Given the description of an element on the screen output the (x, y) to click on. 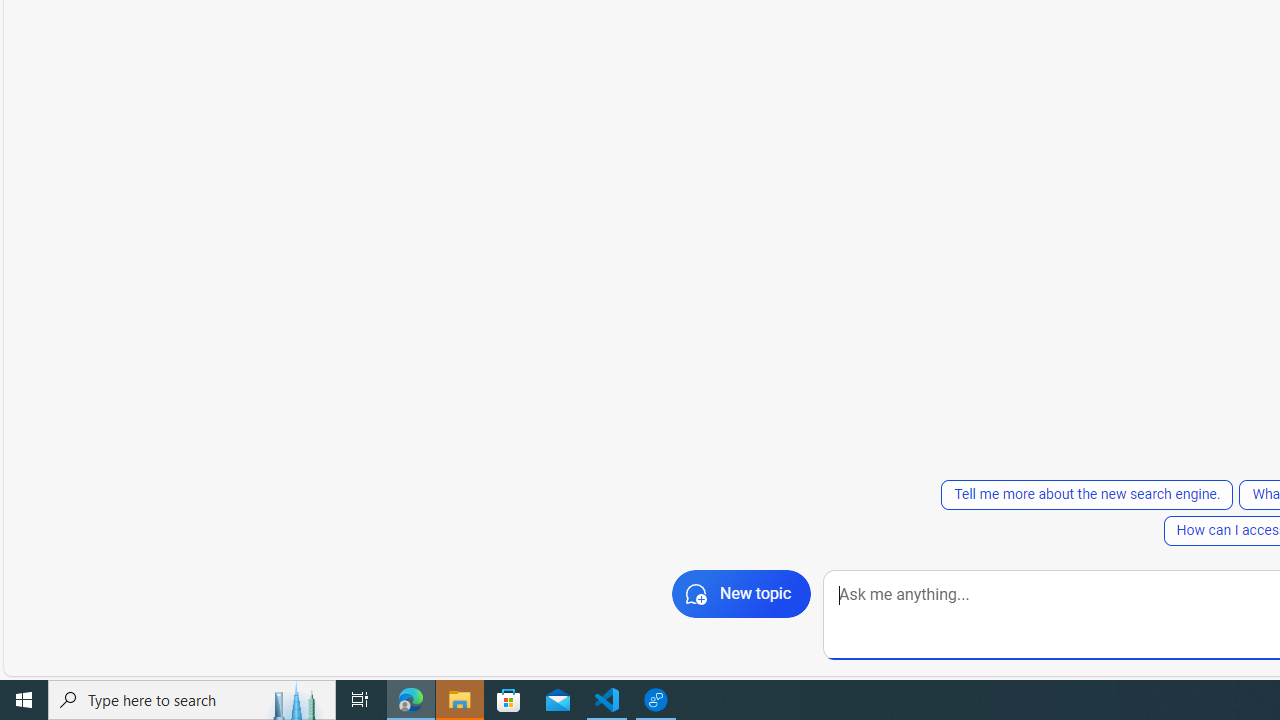
Tell me more about the new search engine. (1087, 494)
Tell me more about the new search engine. (1086, 494)
